Given the description of an element on the screen output the (x, y) to click on. 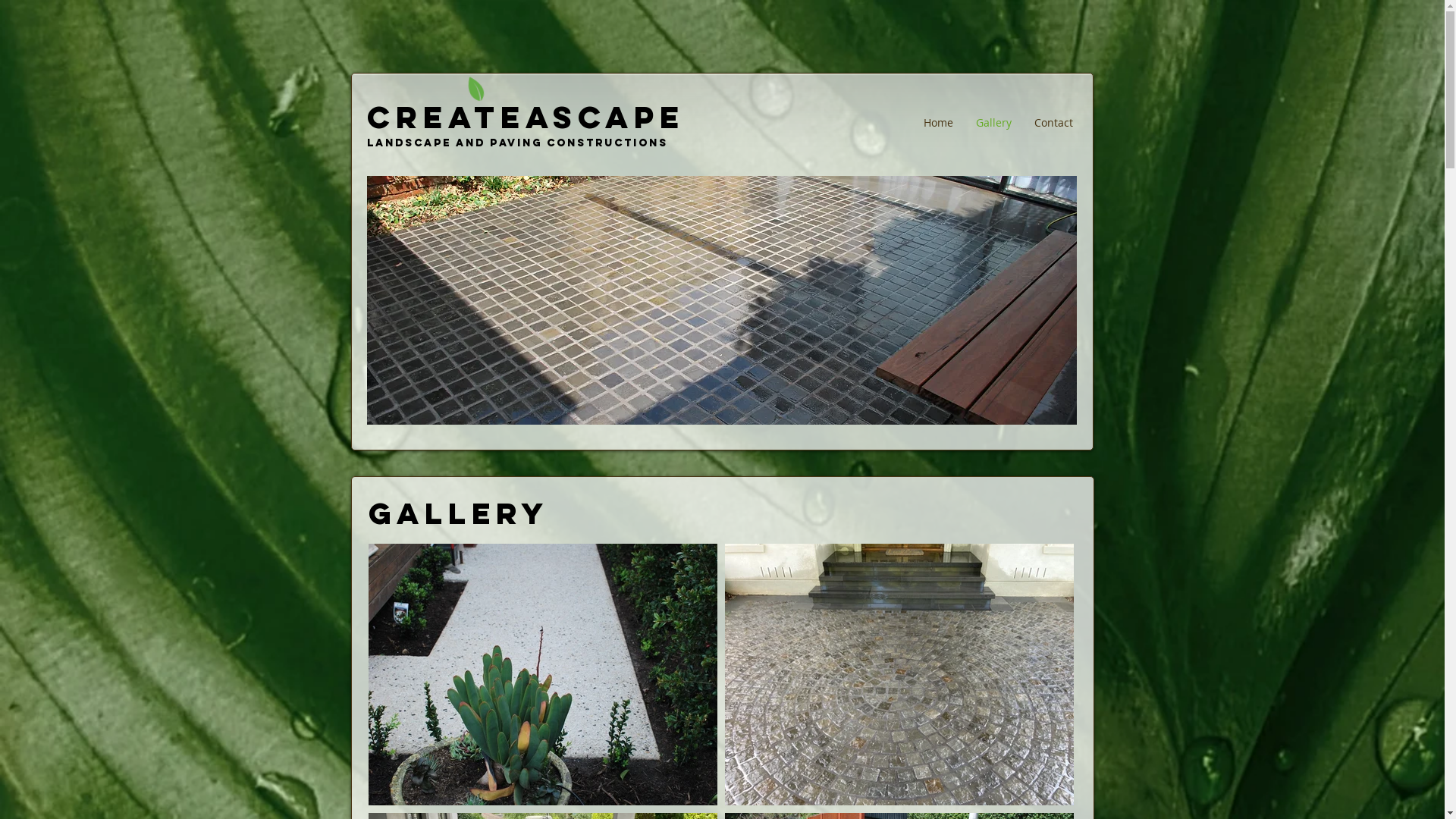
Gallery Element type: text (993, 122)
CREATEASCAPE Element type: text (525, 116)
Contact Element type: text (1052, 122)
Home Element type: text (937, 122)
